Given the description of an element on the screen output the (x, y) to click on. 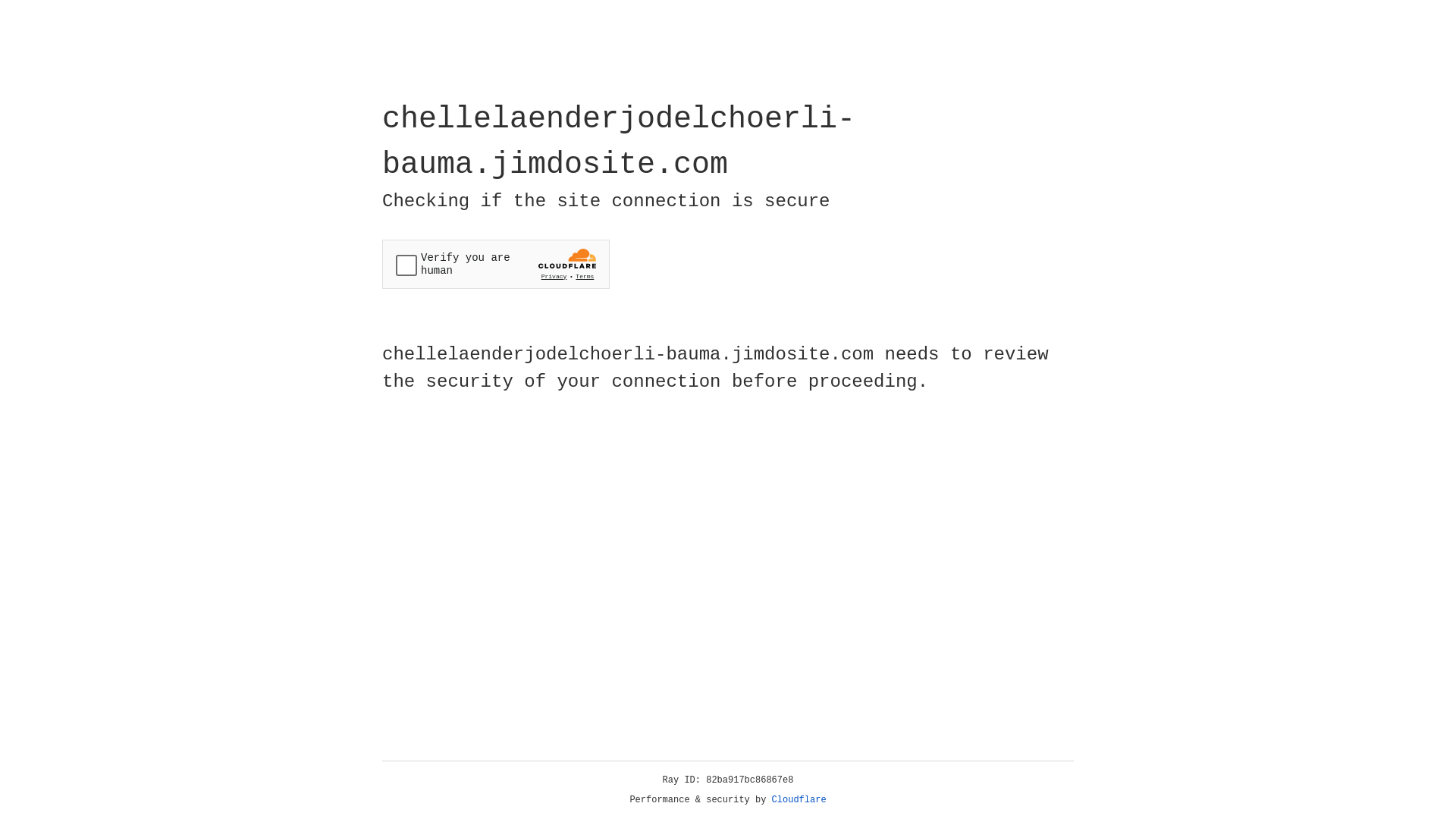
Cloudflare Element type: text (798, 799)
Widget containing a Cloudflare security challenge Element type: hover (495, 263)
